Given the description of an element on the screen output the (x, y) to click on. 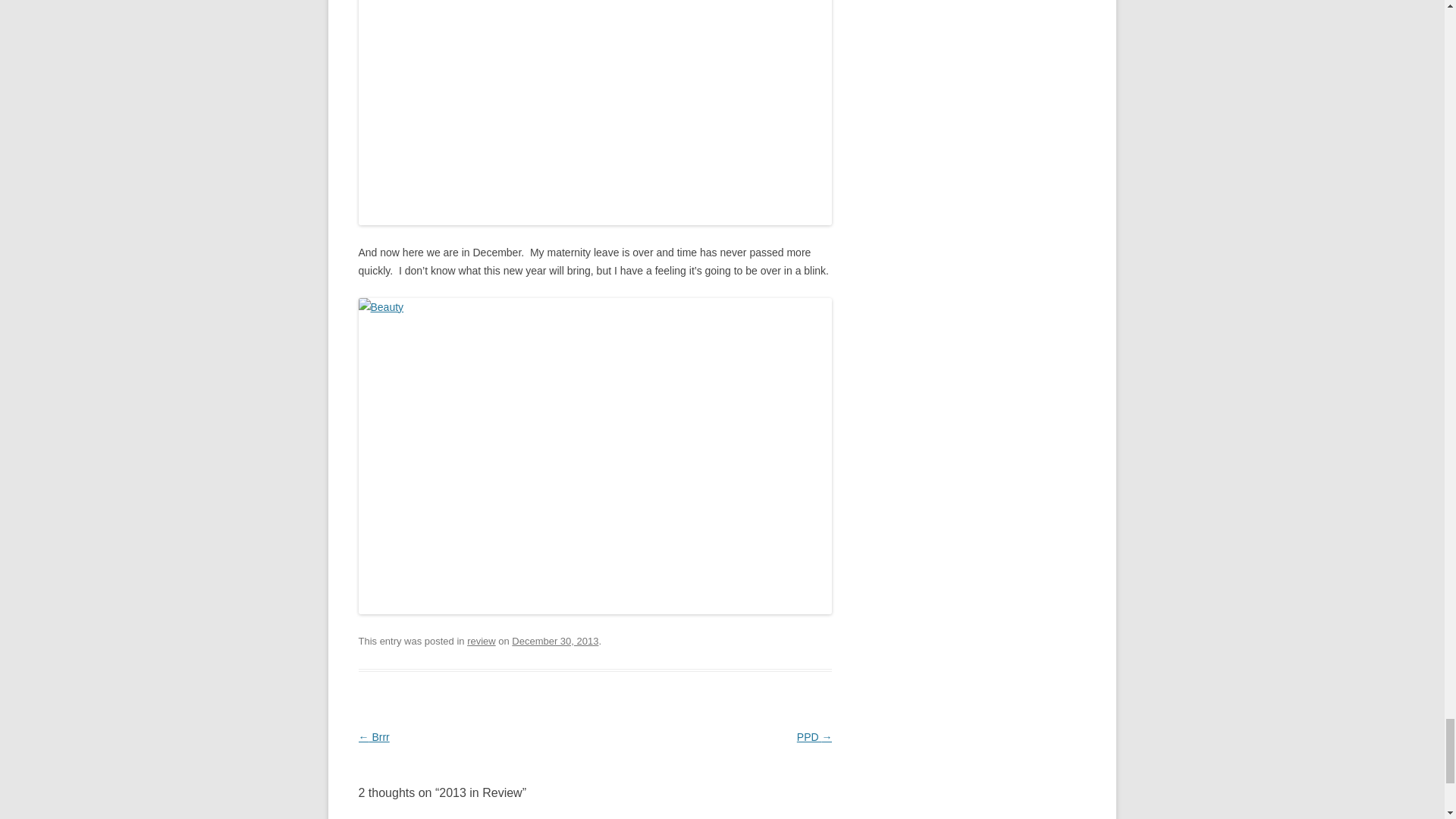
review (481, 641)
3:43 pm (555, 641)
December 30, 2013 (555, 641)
